Given the description of an element on the screen output the (x, y) to click on. 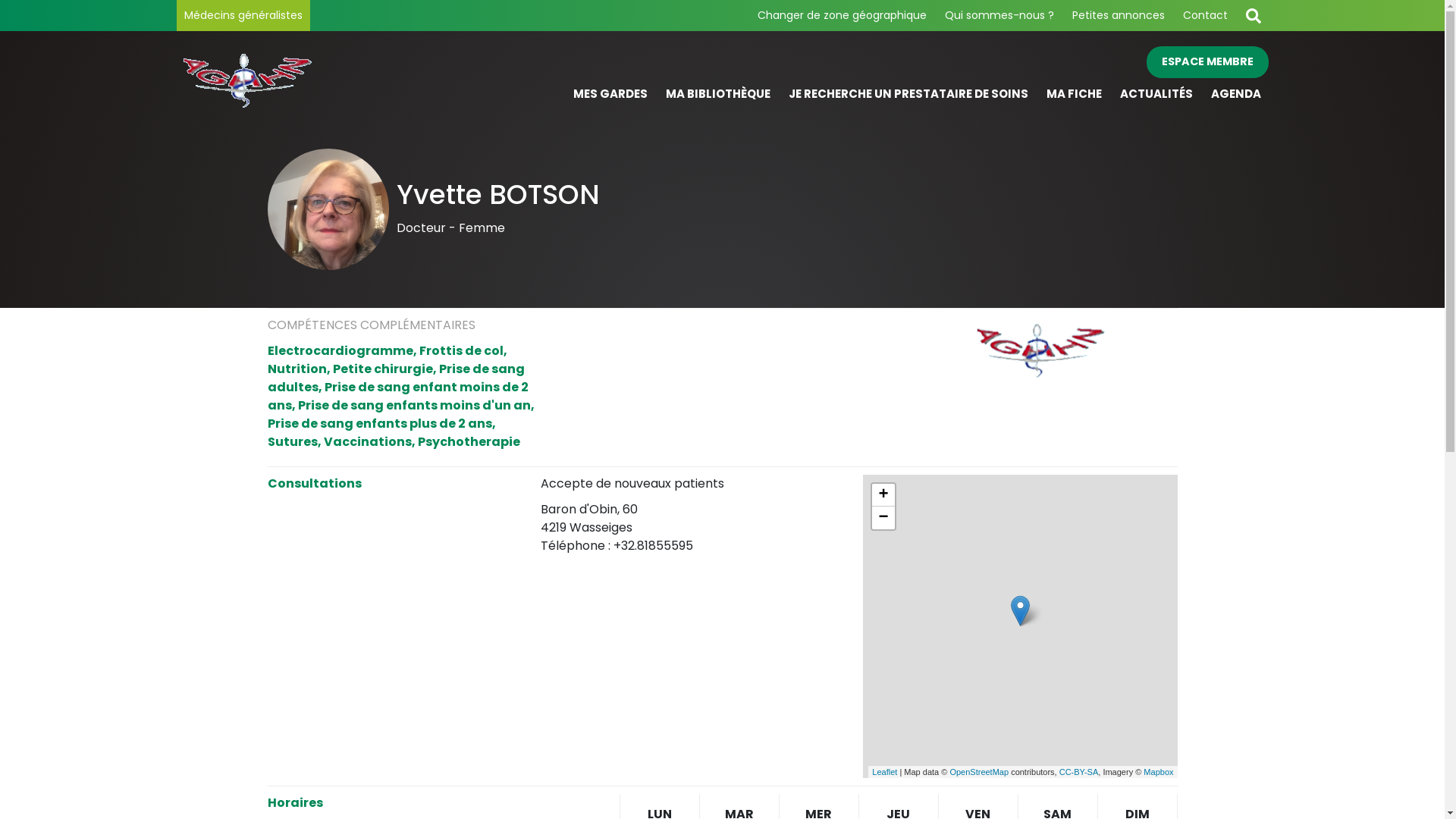
Qui sommes-nous ? Element type: text (999, 15)
CC-BY-SA Element type: text (1078, 771)
Mapbox Element type: text (1158, 771)
AGENDA Element type: text (1234, 94)
Petites annonces Element type: text (1118, 15)
Rechercher Element type: hover (1252, 15)
OpenStreetMap Element type: text (978, 771)
Contact Element type: text (1205, 15)
+ Element type: text (883, 494)
MES GARDES Element type: text (610, 94)
ESPACE MEMBRE Element type: text (1207, 62)
MA FICHE Element type: text (1073, 94)
JE RECHERCHE UN PRESTATAIRE DE SOINS Element type: text (908, 94)
Leaflet Element type: text (884, 771)
